Given the description of an element on the screen output the (x, y) to click on. 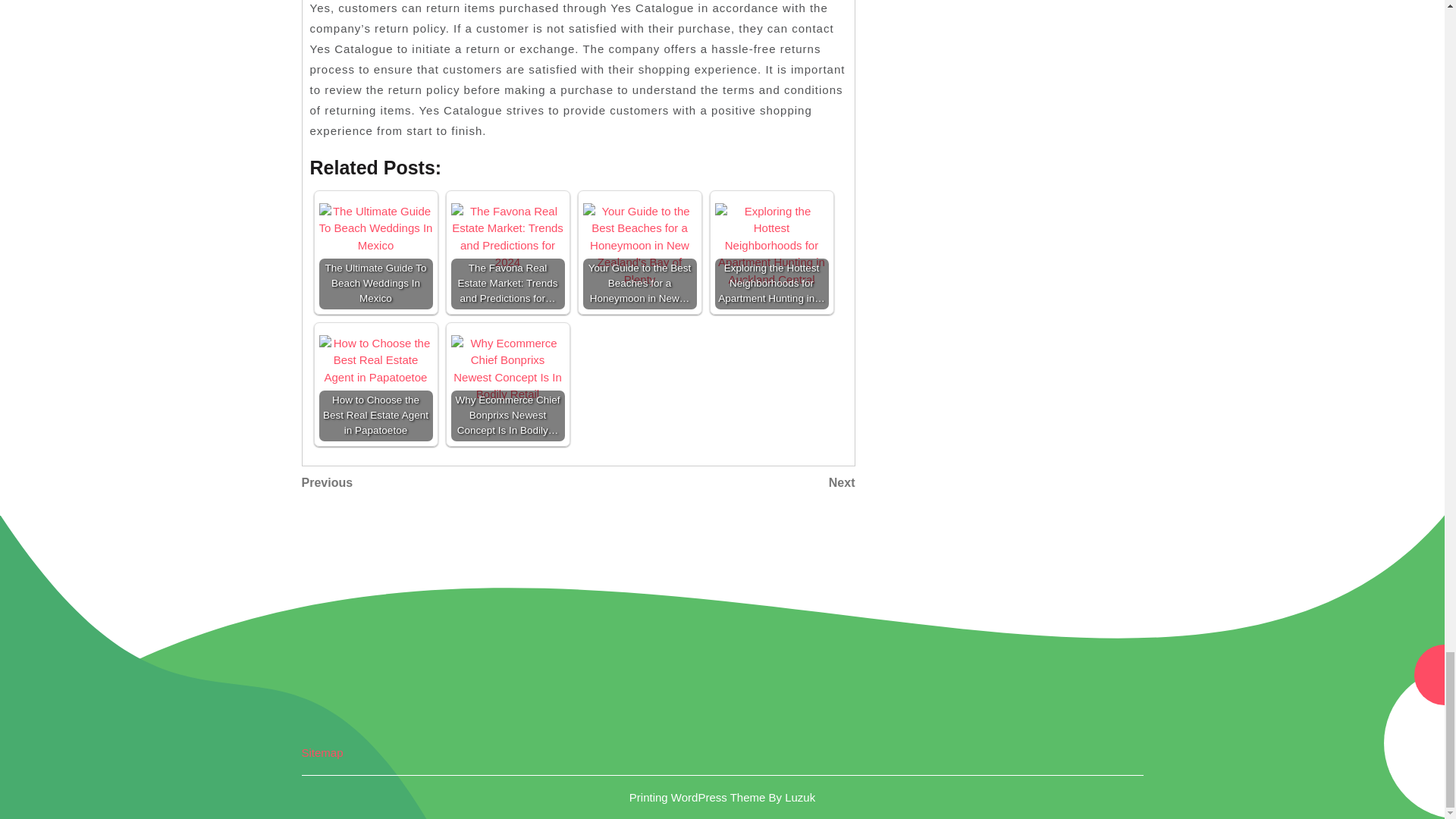
How to Choose the Best Real Estate Agent in Papatoetoe (716, 483)
The Ultimate Guide To Beach Weddings In Mexico (375, 360)
How to Choose the Best Real Estate Agent in Papatoetoe (375, 252)
The Ultimate Guide To Beach Weddings In Mexico (439, 483)
